Given the description of an element on the screen output the (x, y) to click on. 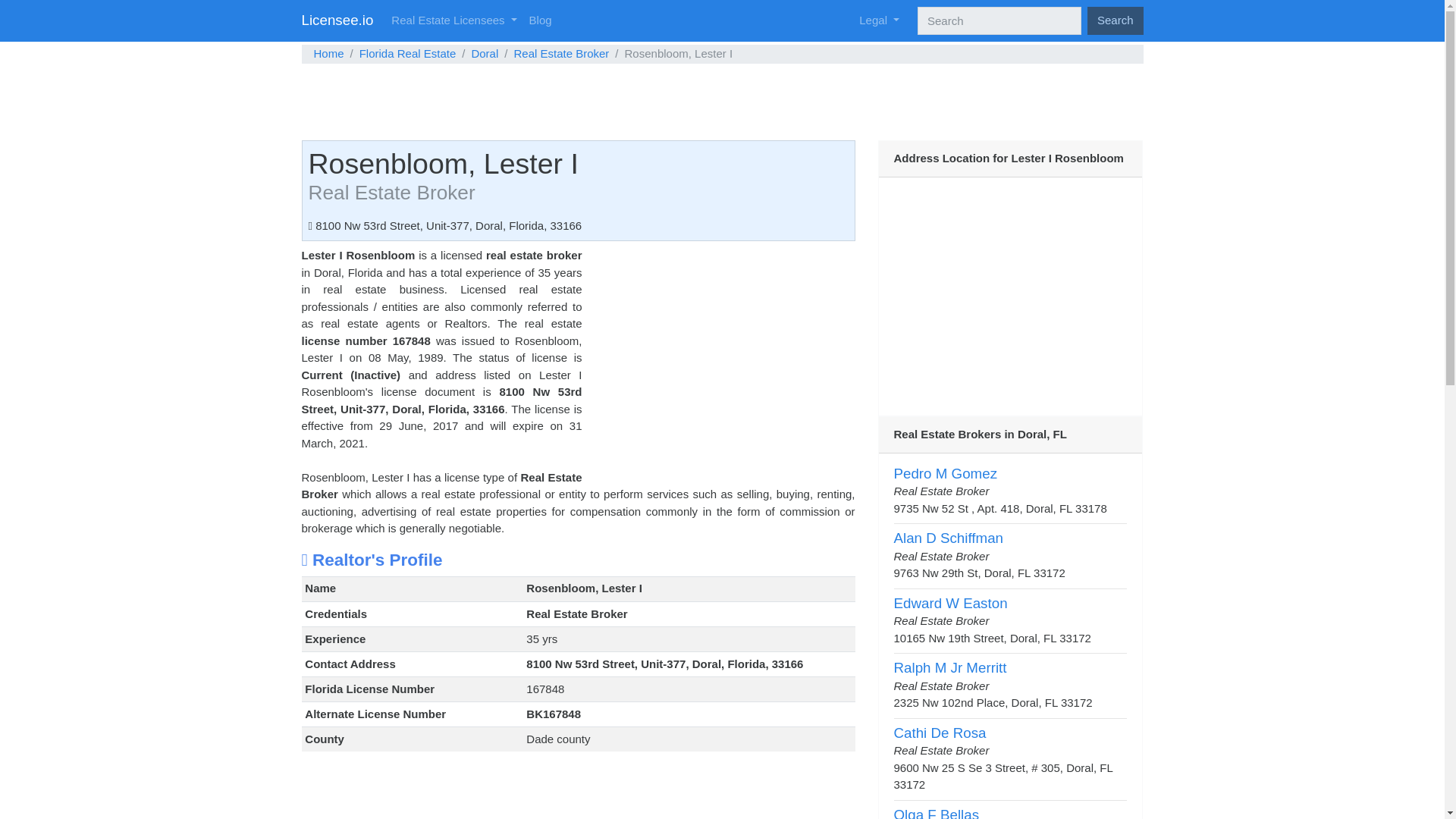
Legal (879, 20)
Pedro M Gomez (945, 473)
Real Estate Broker (560, 52)
Edward W Easton (950, 602)
Olga F Bellas (935, 812)
Doral (483, 52)
Florida Real Estate (408, 52)
Alan D Schiffman (948, 537)
Blog (539, 20)
Real Estate Licensees (453, 20)
